Given the description of an element on the screen output the (x, y) to click on. 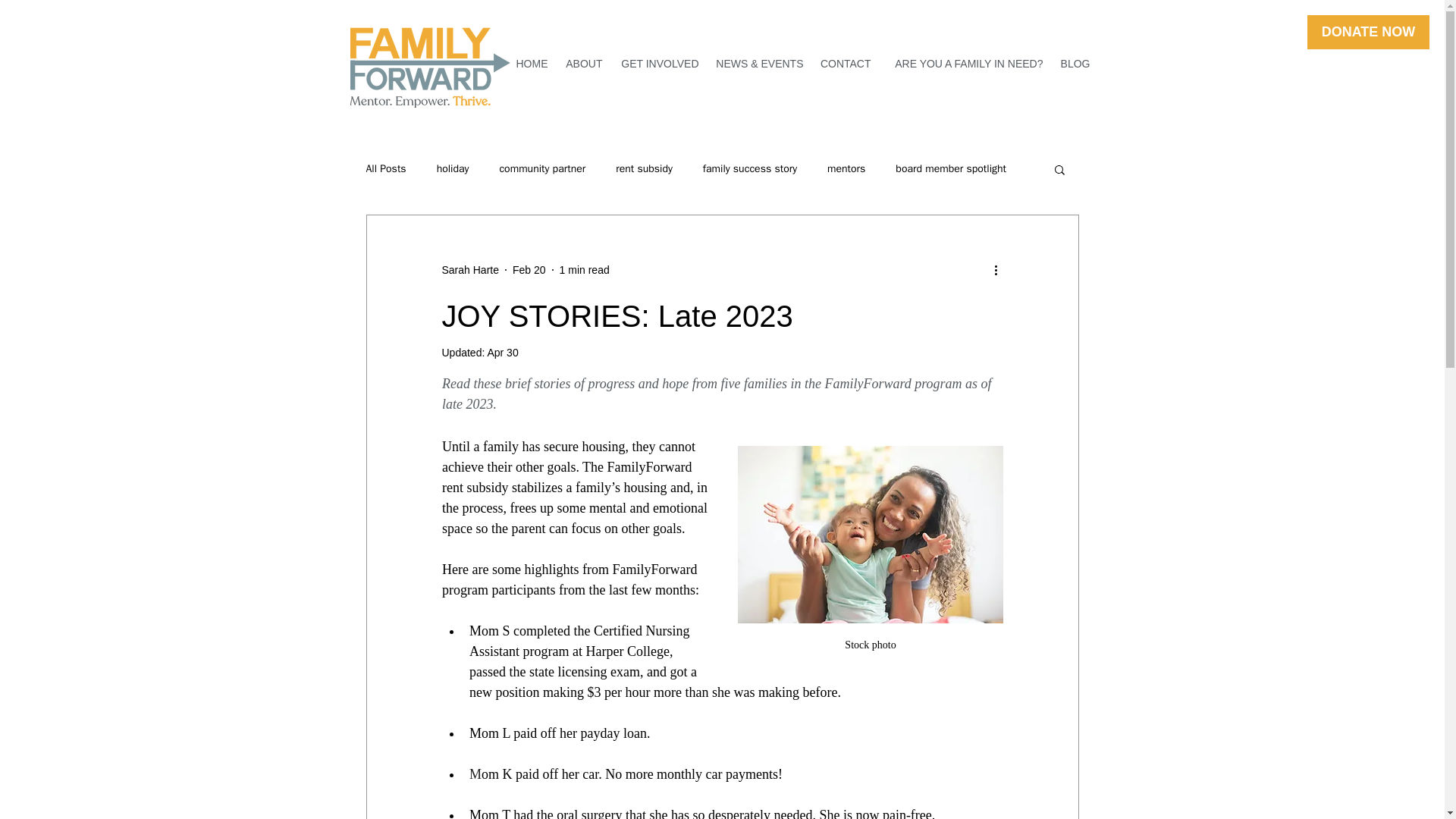
Sarah Harte (469, 270)
holiday (452, 169)
CONTACT (844, 63)
board member spotlight (950, 169)
ARE YOU A FAMILY IN NEED? (963, 63)
1 min read (584, 269)
community partner (542, 169)
Feb 20 (529, 269)
All Posts (385, 169)
HOME (531, 63)
DONATE NOW (1368, 32)
rent subsidy (643, 169)
mentors (845, 169)
BLOG (1074, 63)
family success story (749, 169)
